Given the description of an element on the screen output the (x, y) to click on. 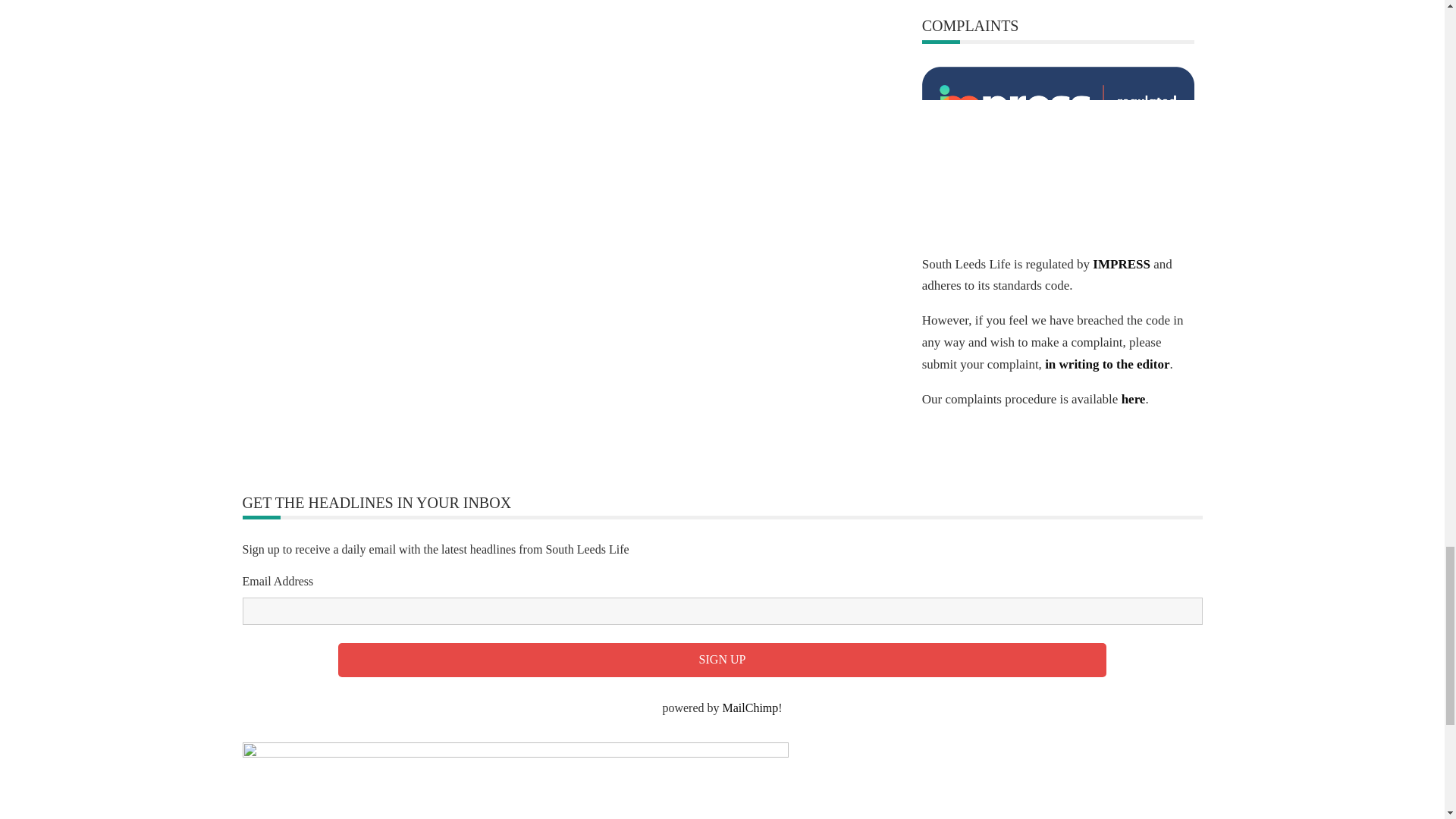
Sign up (721, 659)
